Given the description of an element on the screen output the (x, y) to click on. 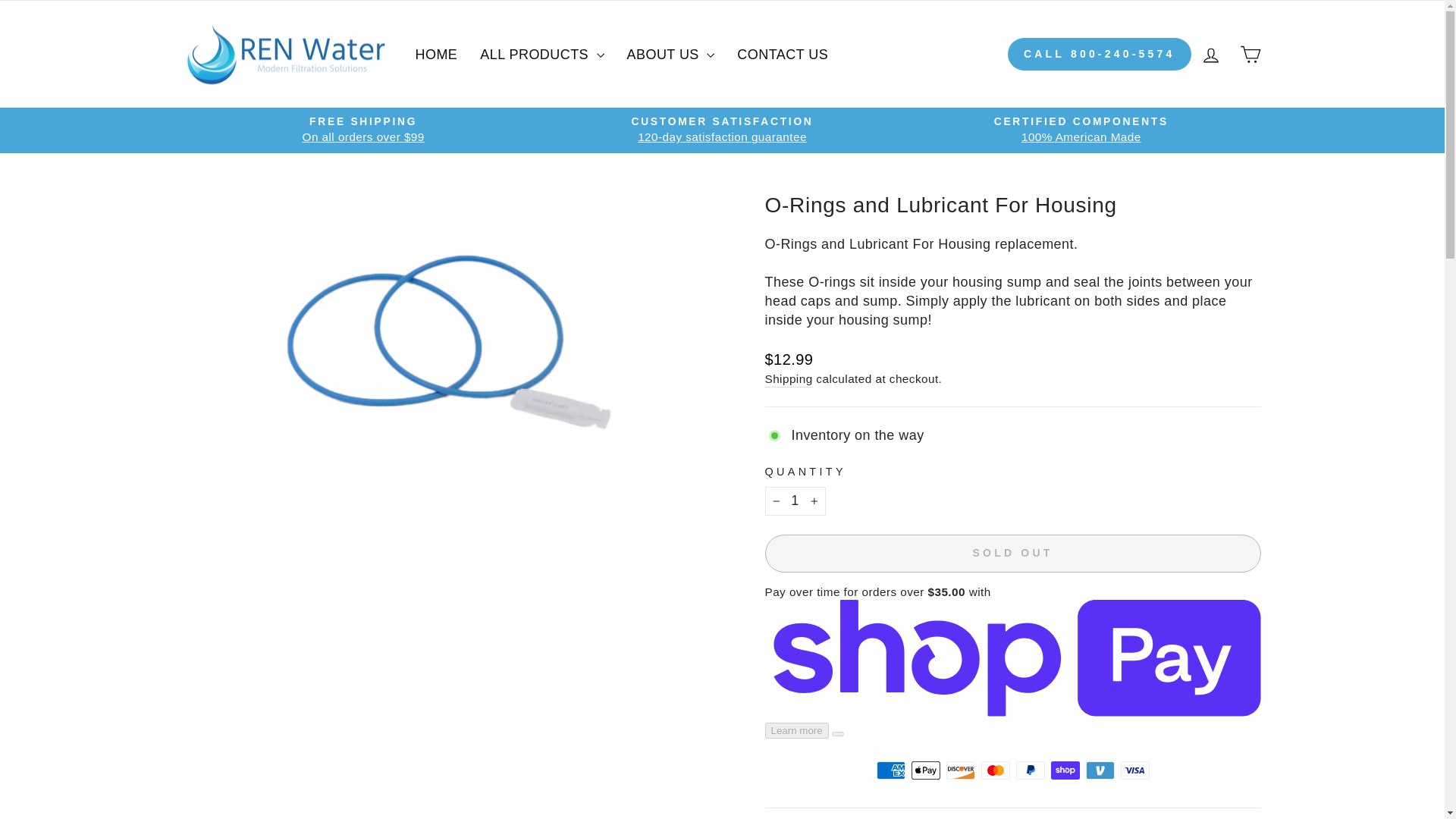
ACCOUNT (1210, 54)
Discover (960, 770)
Apple Pay (925, 770)
Shop Pay (1065, 770)
Venmo (1100, 770)
PayPal (1030, 770)
American Express (890, 770)
Mastercard (995, 770)
Visa (1135, 770)
1 (794, 500)
